Given the description of an element on the screen output the (x, y) to click on. 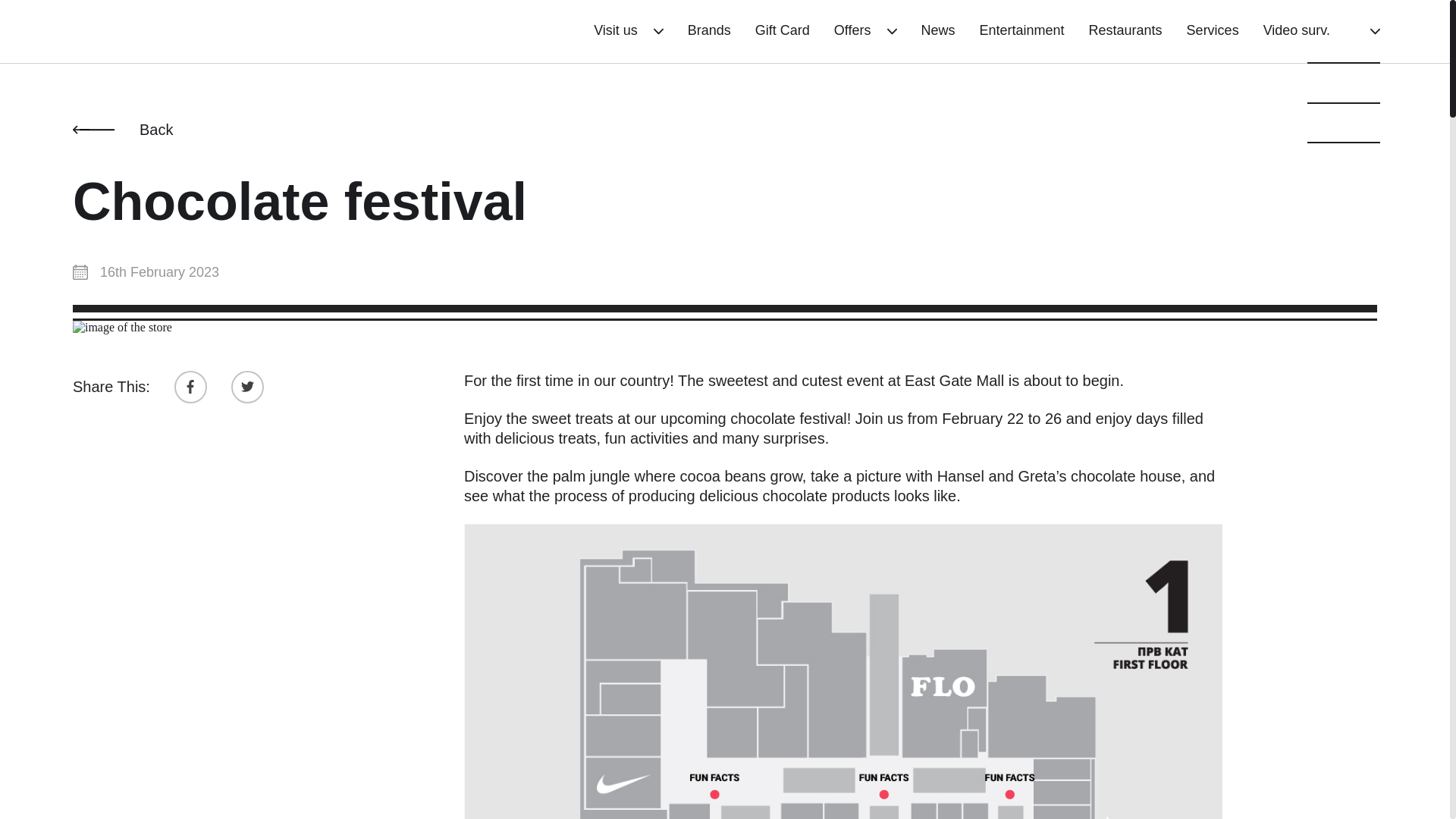
Visit us (628, 29)
News (938, 29)
Offers (865, 29)
Services (1212, 29)
Video surv. (1296, 29)
Entertainment (1021, 29)
Gift Card (782, 29)
Restaurants (1125, 29)
Back (122, 129)
Brands (708, 29)
